Given the description of an element on the screen output the (x, y) to click on. 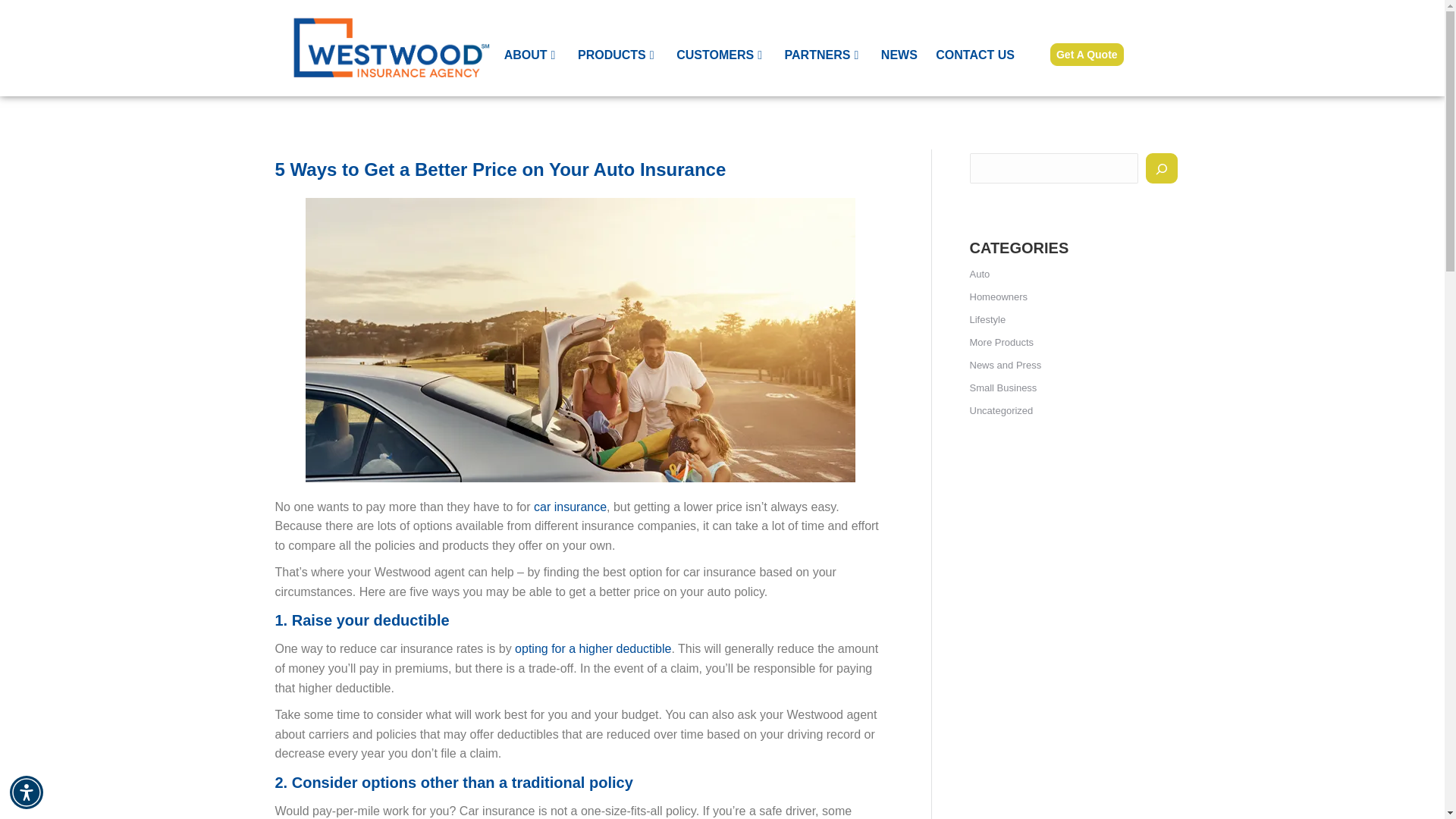
Accessibility Menu (26, 792)
PRODUCTS (618, 55)
ABOUT (531, 55)
CUSTOMERS (721, 55)
